Given the description of an element on the screen output the (x, y) to click on. 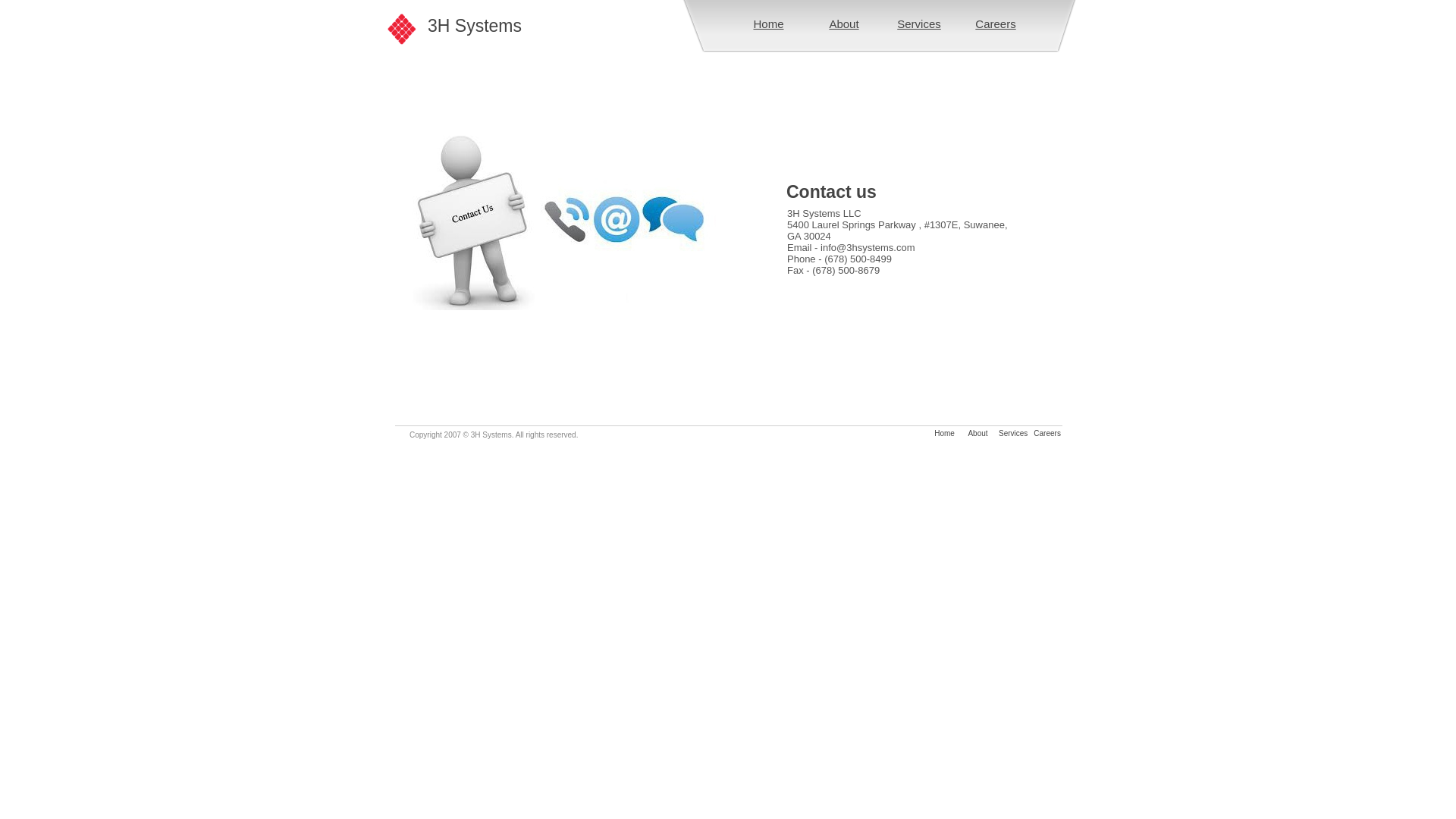
Careers Element type: text (995, 23)
Home Element type: text (944, 433)
Services Element type: text (919, 23)
Services Element type: text (1012, 433)
   Careers Element type: text (1043, 433)
About Element type: text (977, 433)
Home Element type: text (768, 23)
About Element type: text (843, 23)
